Given the description of an element on the screen output the (x, y) to click on. 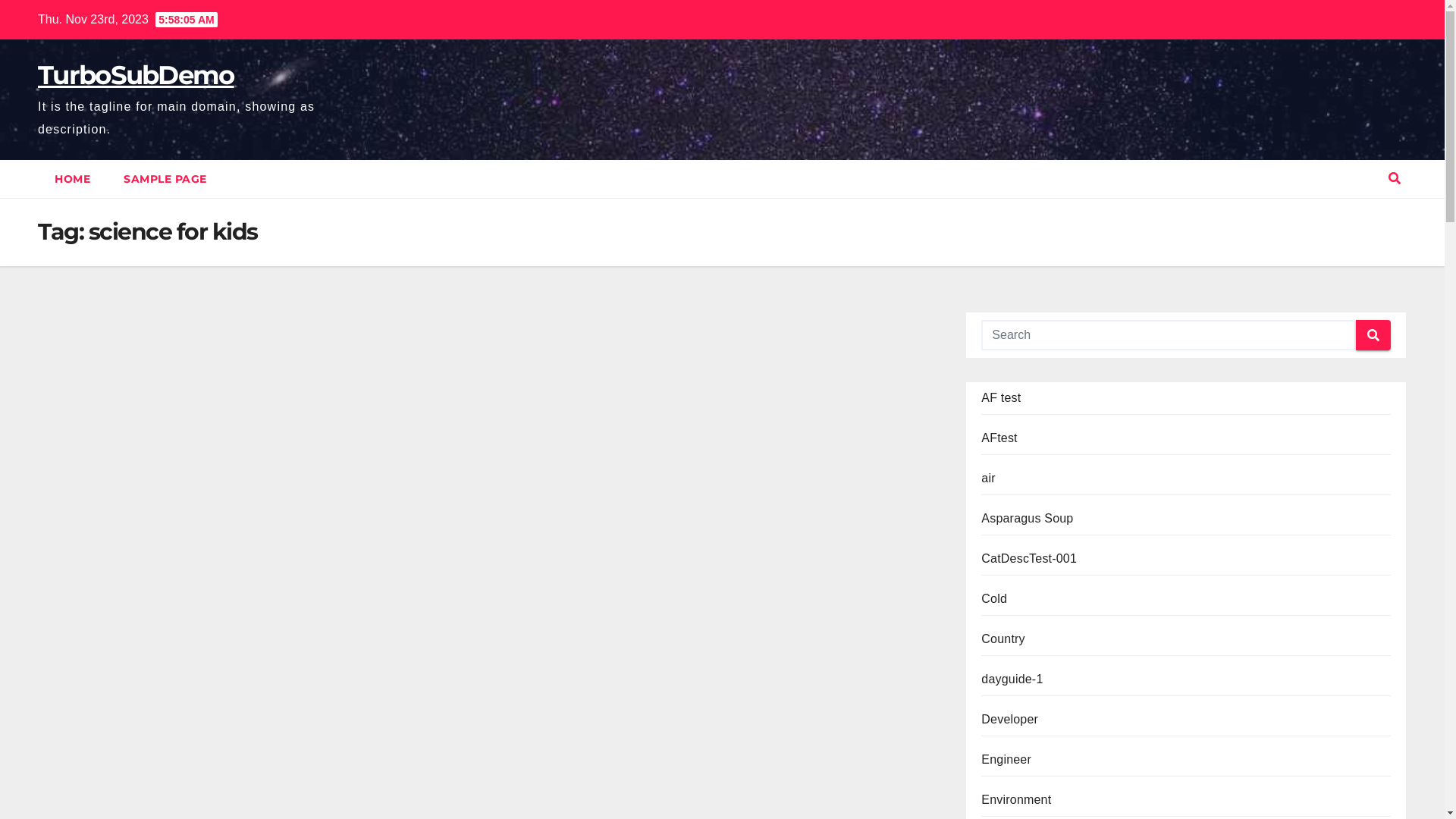
AFtest Element type: text (998, 437)
Country Element type: text (1002, 638)
AF test Element type: text (1000, 397)
Cold Element type: text (994, 598)
TurboSubDemo Element type: text (135, 75)
Asparagus Soup Element type: text (1027, 517)
Engineer Element type: text (1006, 759)
air Element type: text (987, 477)
Environment Element type: text (1016, 799)
CatDescTest-001 Element type: text (1028, 558)
dayguide-1 Element type: text (1011, 678)
Developer Element type: text (1009, 718)
SAMPLE PAGE Element type: text (164, 178)
HOME Element type: text (71, 178)
